Given the description of an element on the screen output the (x, y) to click on. 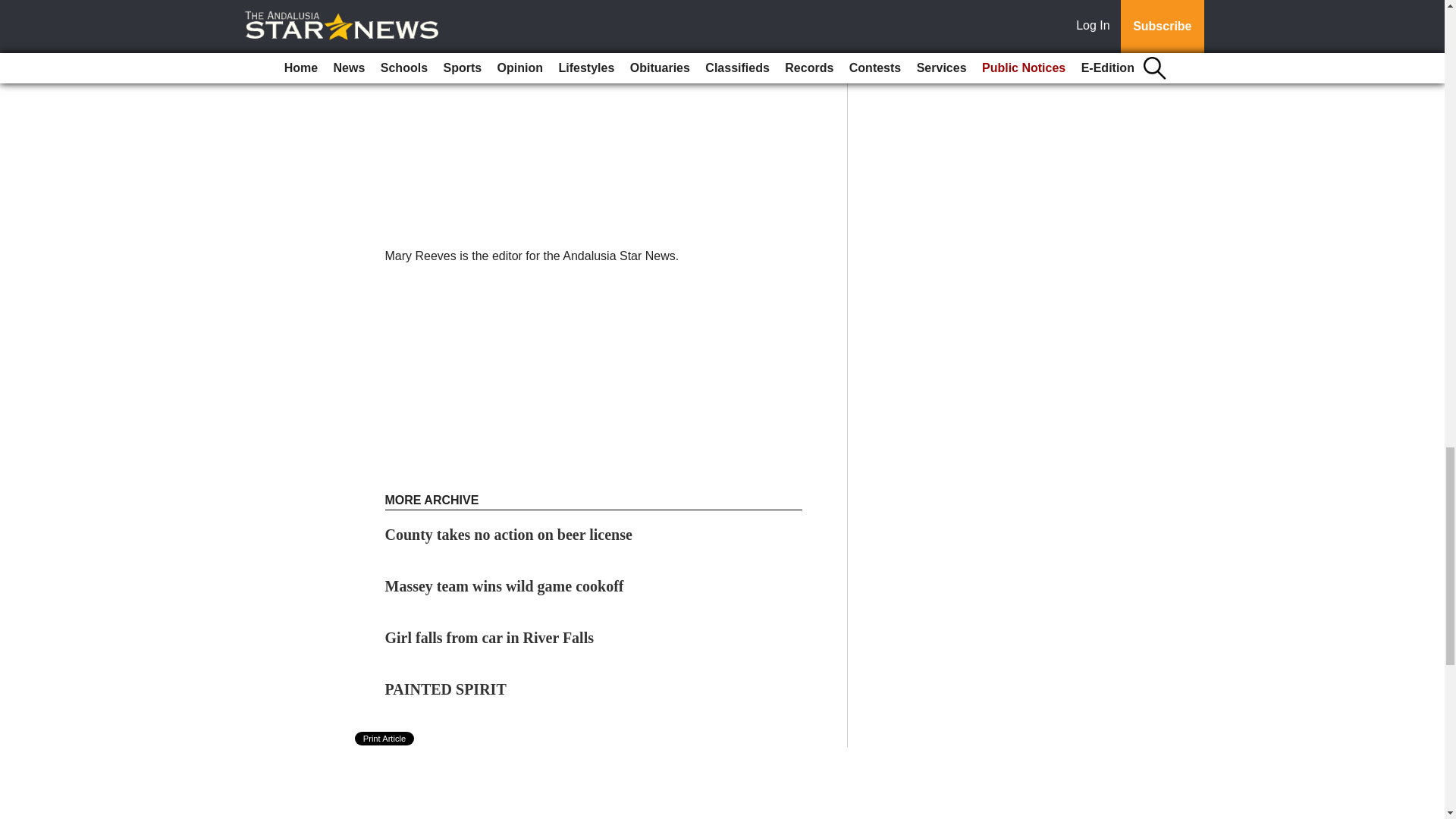
County takes no action on beer license (508, 534)
Print Article (384, 738)
Girl falls from car in River Falls (489, 637)
County takes no action on beer license (508, 534)
Massey team wins wild game cookoff (504, 586)
Girl falls from car in River Falls (489, 637)
Massey team wins wild game cookoff (504, 586)
